Given the description of an element on the screen output the (x, y) to click on. 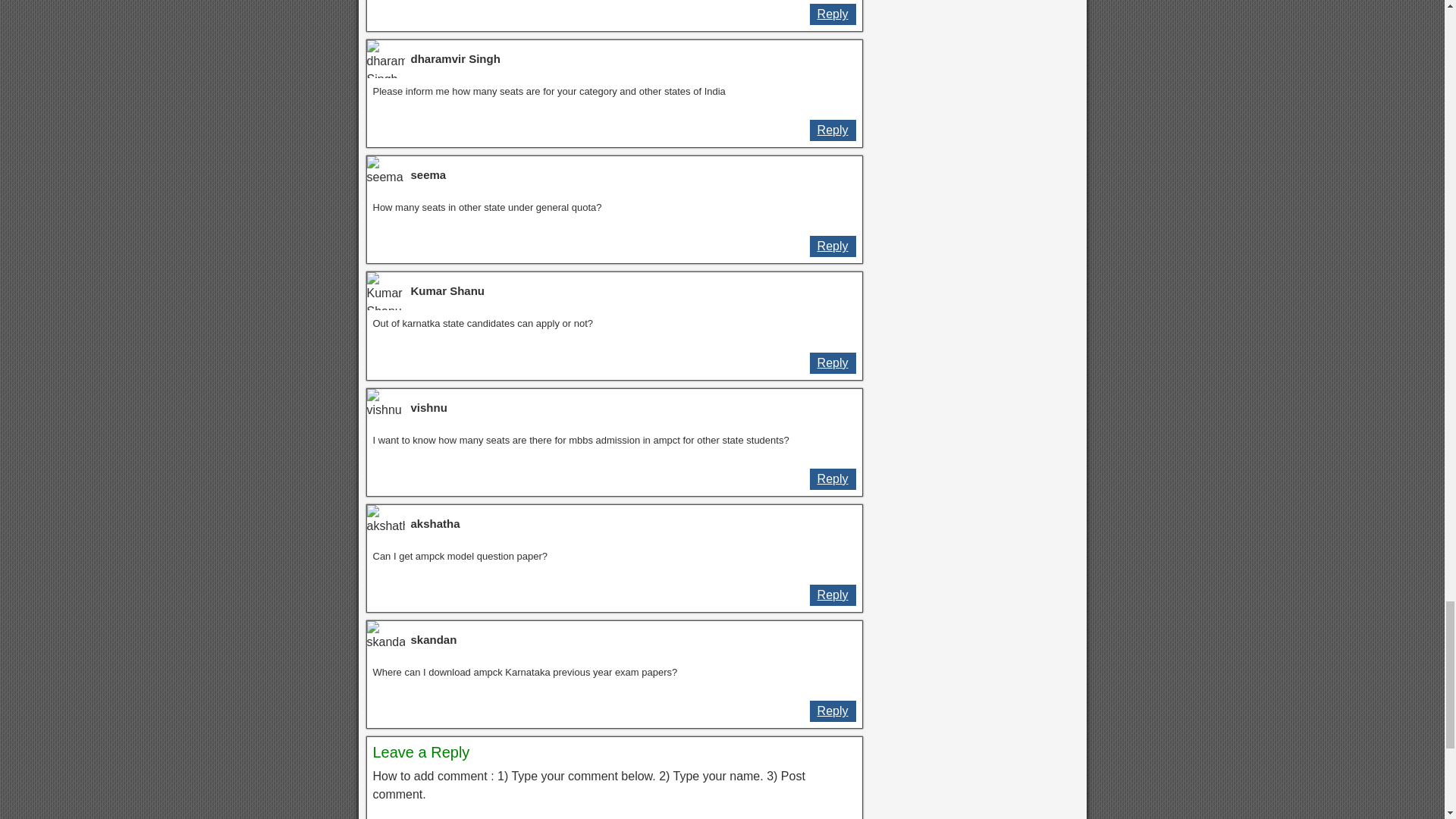
Reply (832, 246)
Reply (832, 129)
Reply (832, 711)
Reply (832, 478)
Reply (832, 595)
Reply (832, 362)
Reply (832, 14)
